Given the description of an element on the screen output the (x, y) to click on. 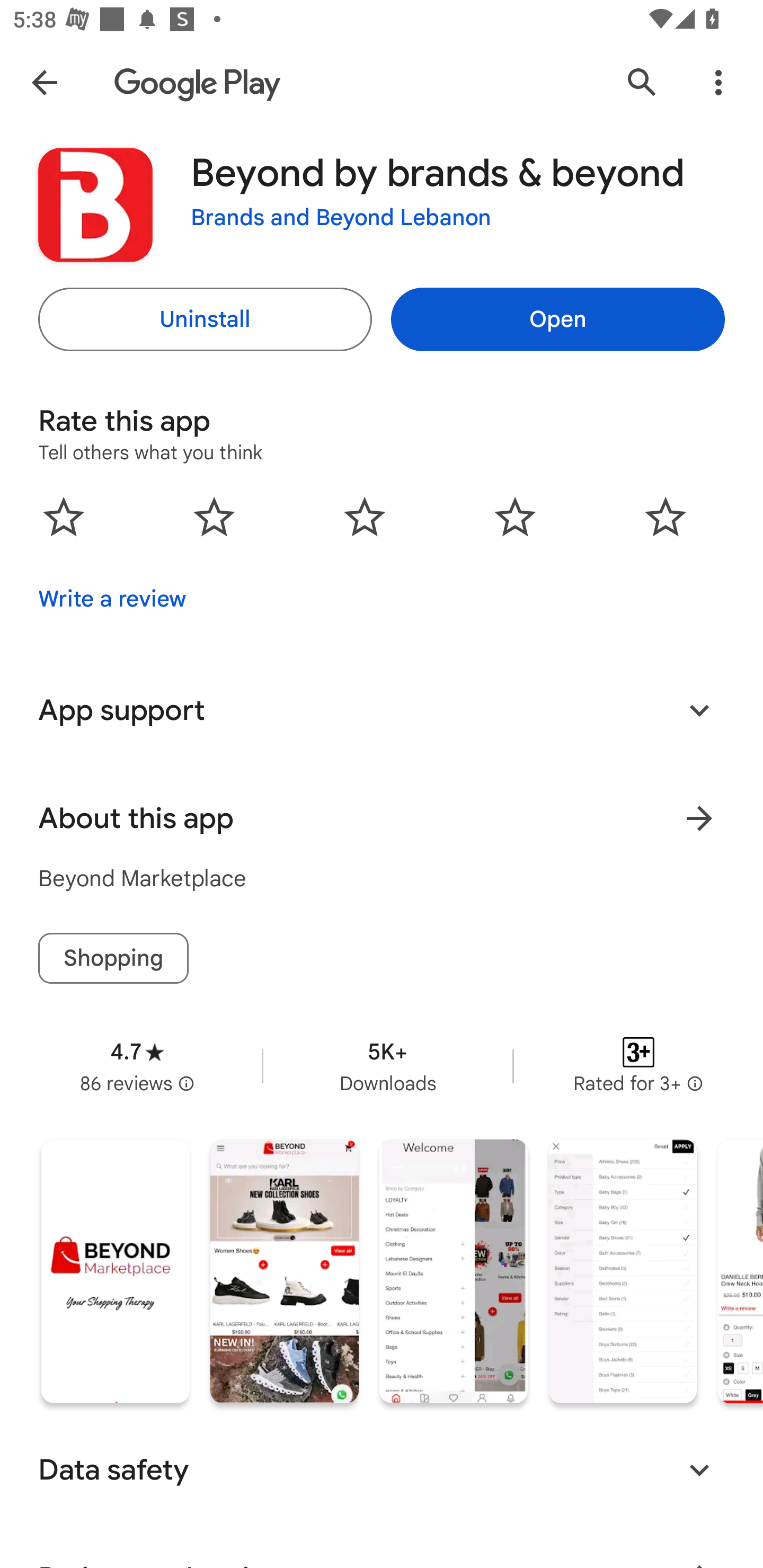
Navigate up (44, 81)
Search Google Play (642, 81)
More Options (718, 81)
Brands and Beyond Lebanon (340, 217)
Uninstall (205, 318)
Open (557, 318)
0.0 (364, 516)
Write a review (112, 598)
App support Expand (381, 710)
Expand (699, 709)
About this app Learn more About this app (381, 818)
Learn more About this app (699, 818)
Shopping tag (113, 957)
Average rating 4.7 stars in 86 reviews (137, 1066)
Content rating Rated for 3+ (638, 1066)
Screenshot "1" of "6" (115, 1271)
Screenshot "2" of "6" (284, 1271)
Screenshot "3" of "6" (453, 1271)
Screenshot "4" of "6" (622, 1271)
Data safety Expand (381, 1469)
Expand (699, 1469)
